Given the description of an element on the screen output the (x, y) to click on. 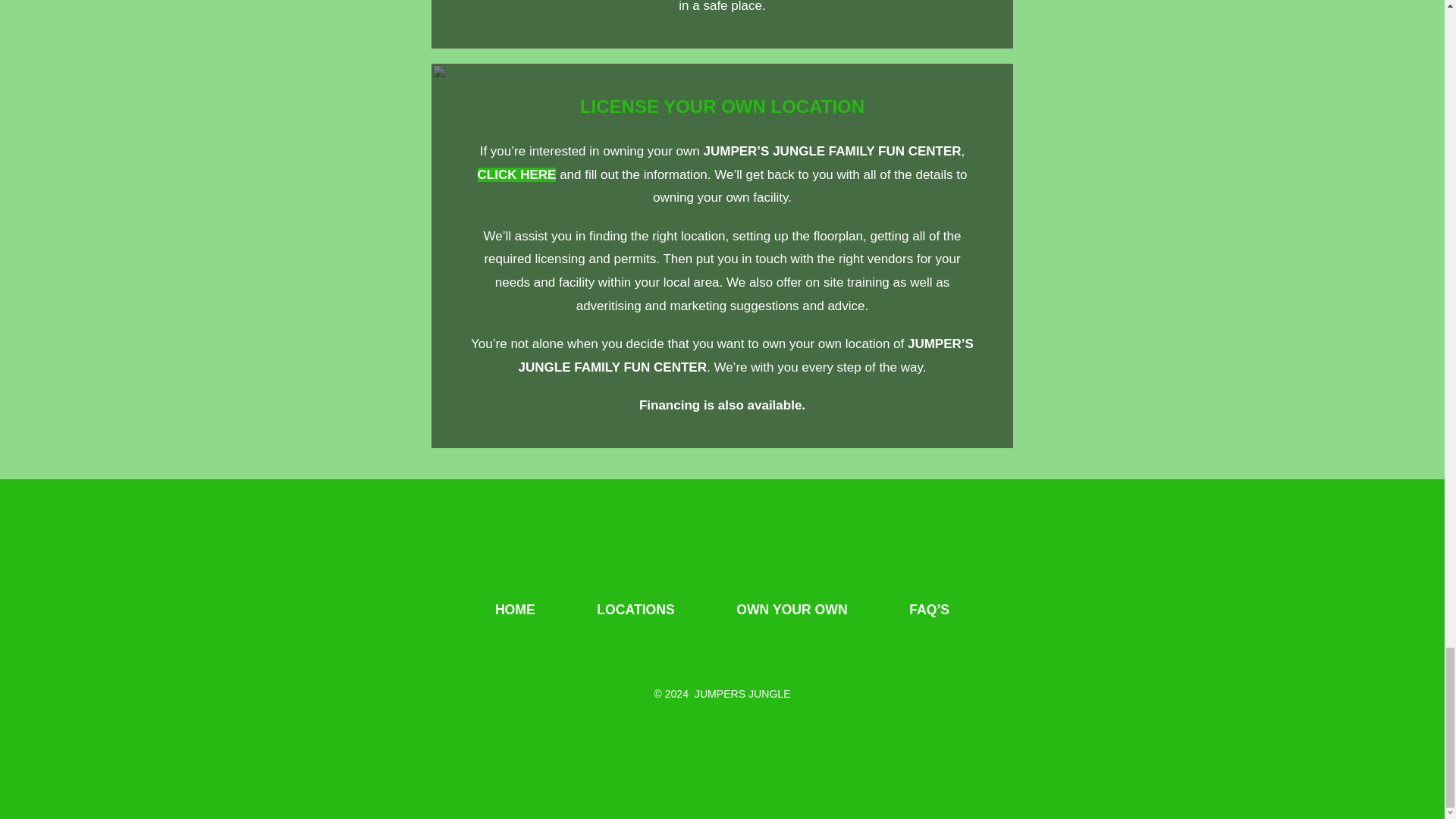
OWN YOUR OWN (791, 610)
CLICK HERE (516, 174)
HOME (514, 610)
LOCATIONS (635, 610)
